Given the description of an element on the screen output the (x, y) to click on. 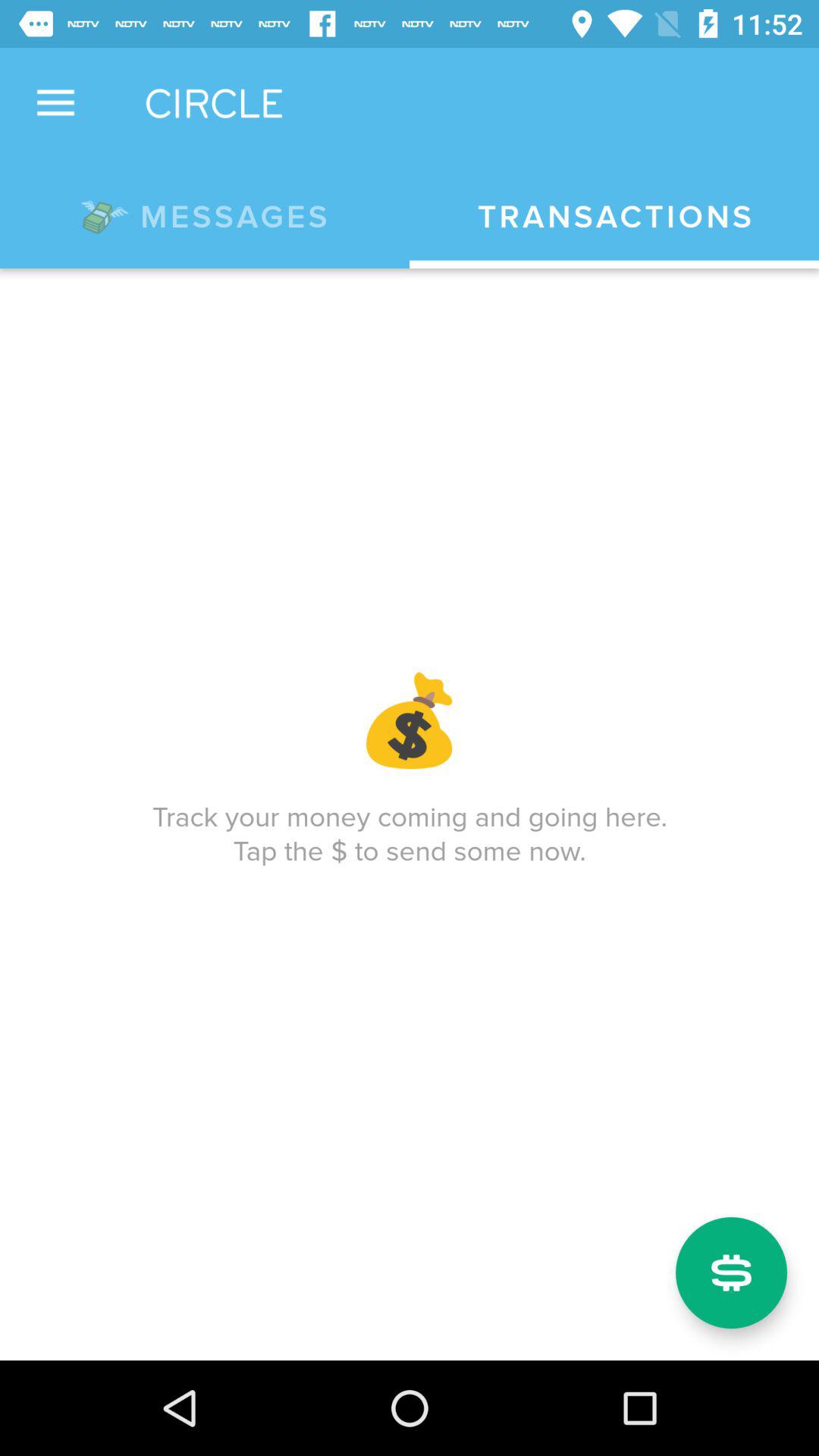
open the transactions (614, 217)
